Given the description of an element on the screen output the (x, y) to click on. 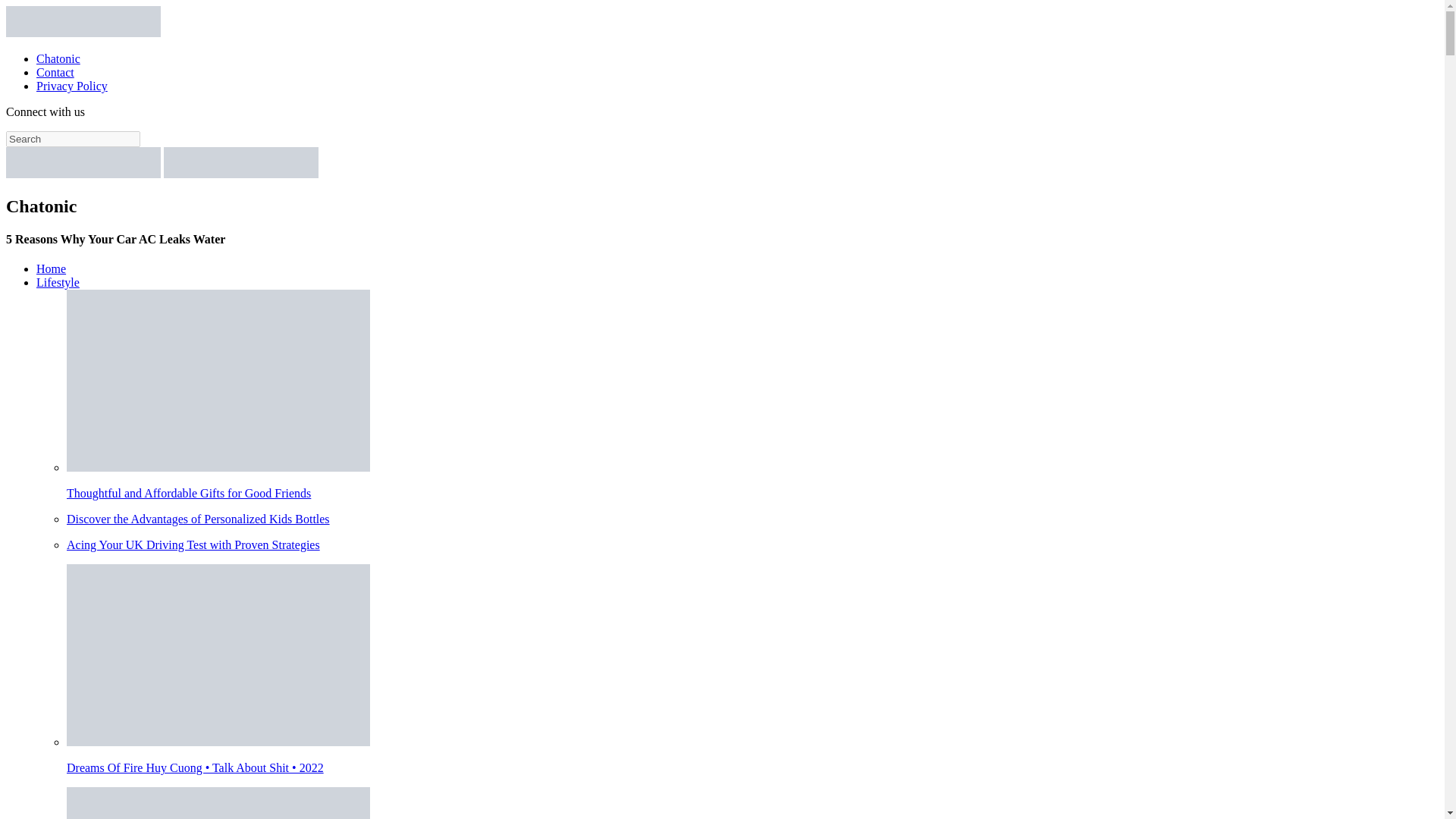
Chatonic (58, 58)
46.285.653 ltda lauro de freitas 3 (217, 803)
Lifestyle (58, 282)
Home (50, 268)
Privacy Policy (71, 85)
Contact (55, 72)
Search (72, 139)
Thoughtful and Affordable Gifts for Good Friends 1 (217, 380)
